Given the description of an element on the screen output the (x, y) to click on. 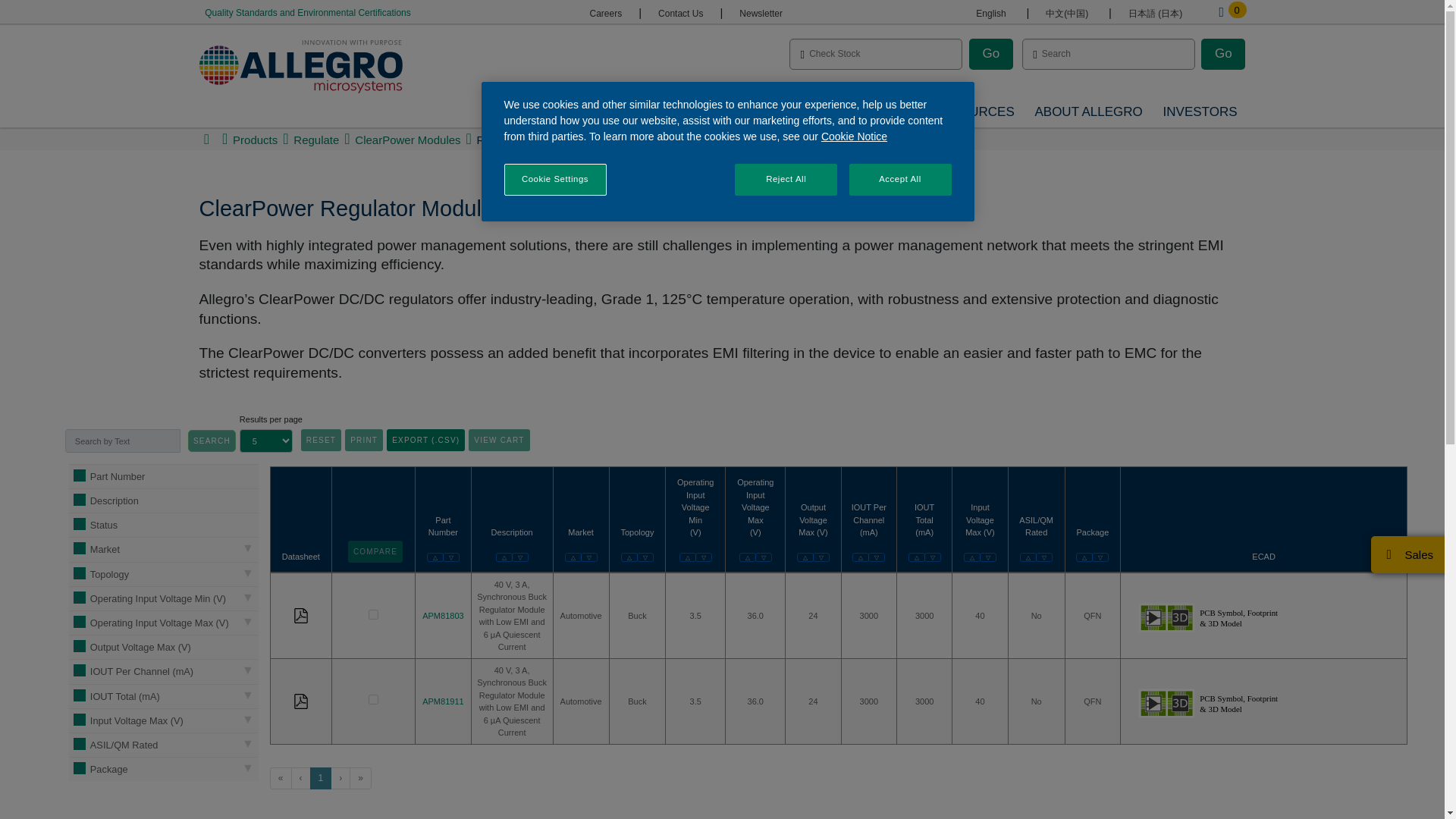
Go (991, 53)
RESOURCES (973, 112)
PRODUCTS (627, 112)
APM81803 (373, 614)
0 (1220, 12)
INVESTORS (1200, 112)
APPLICATIONS (730, 112)
English : English (990, 13)
Careers (605, 13)
home (206, 139)
